Given the description of an element on the screen output the (x, y) to click on. 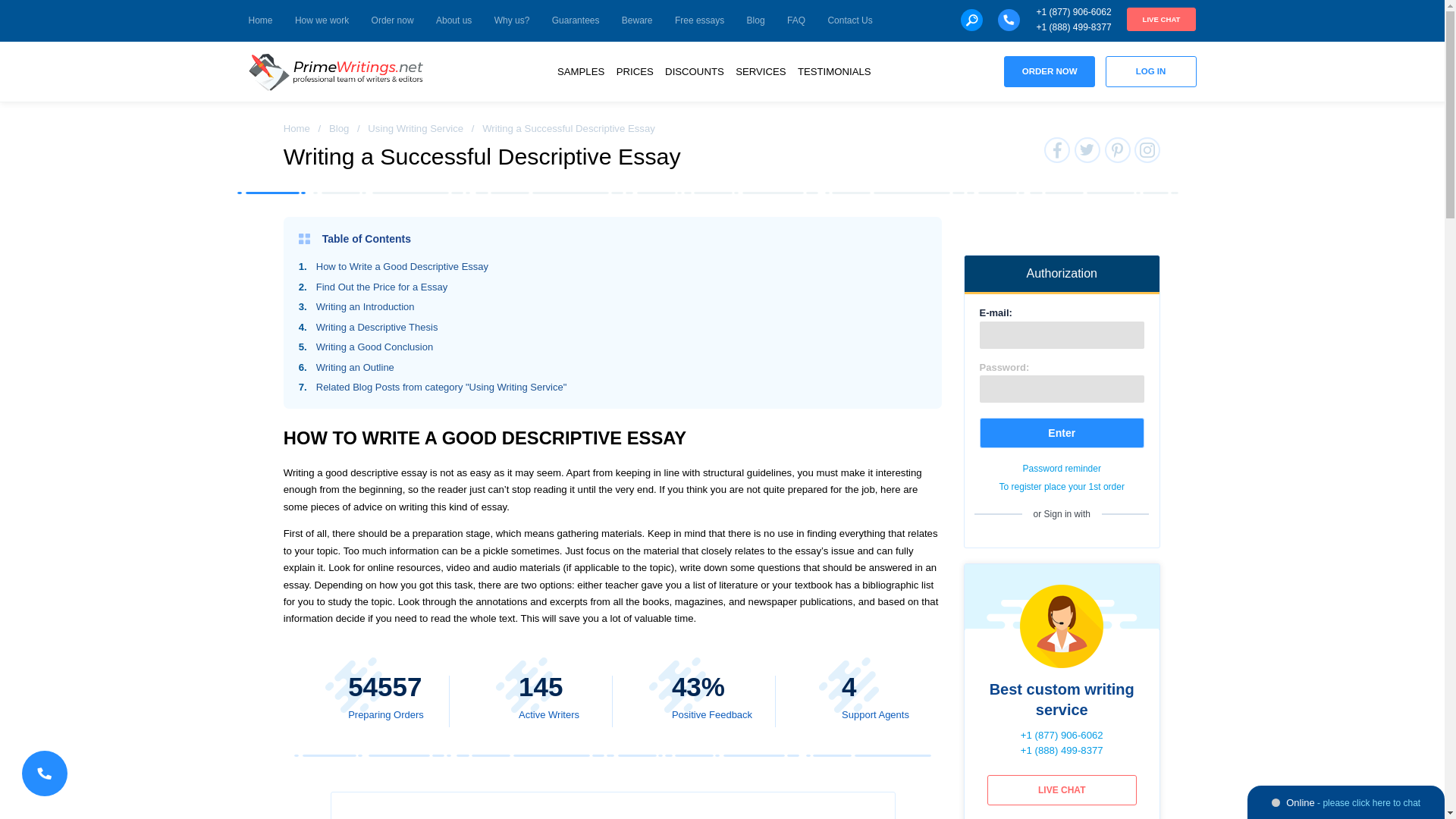
TESTIMONIALS (834, 71)
DISCOUNTS (694, 71)
PRICES (634, 71)
How we work (322, 20)
Blog (339, 128)
Free essays (699, 20)
Guarantees (575, 20)
LOG IN (1150, 71)
Contact Us (849, 20)
SERVICES (760, 71)
Enter (1061, 432)
SAMPLES (580, 71)
blog.primewritings.net (335, 72)
Home (296, 128)
